Given the description of an element on the screen output the (x, y) to click on. 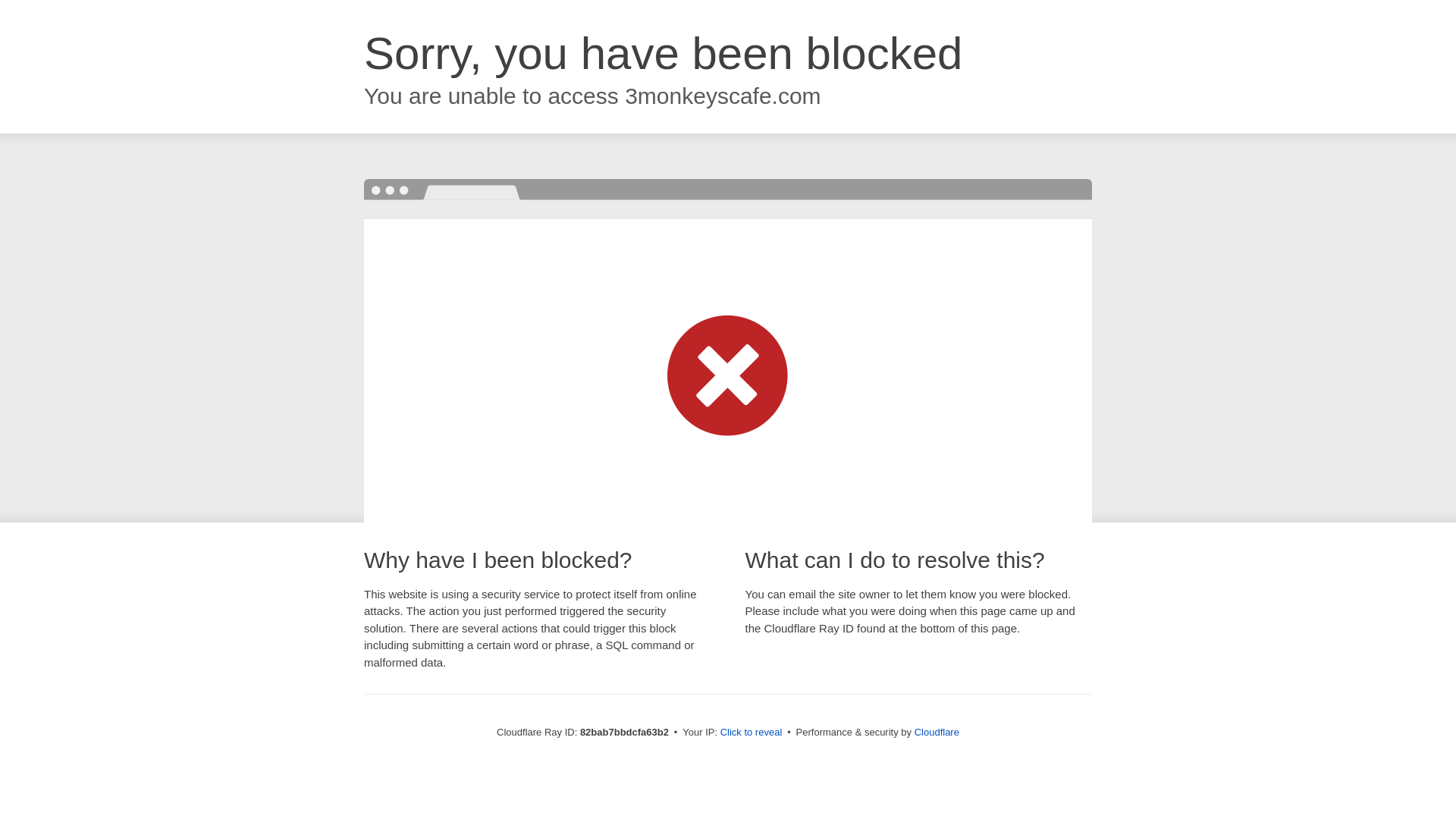
Cloudflare Element type: text (936, 731)
Click to reveal Element type: text (751, 732)
